Given the description of an element on the screen output the (x, y) to click on. 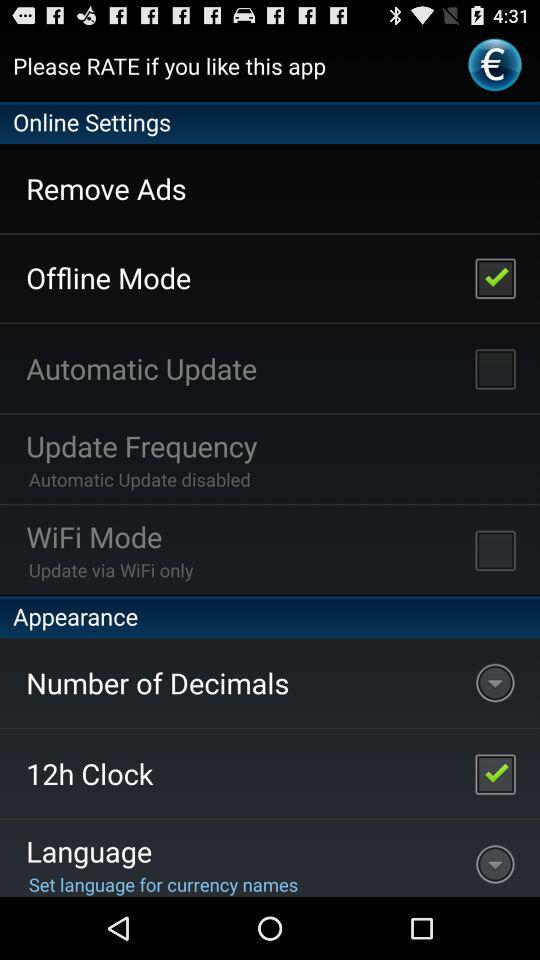
click the app next to the automatic update (495, 367)
